Given the description of an element on the screen output the (x, y) to click on. 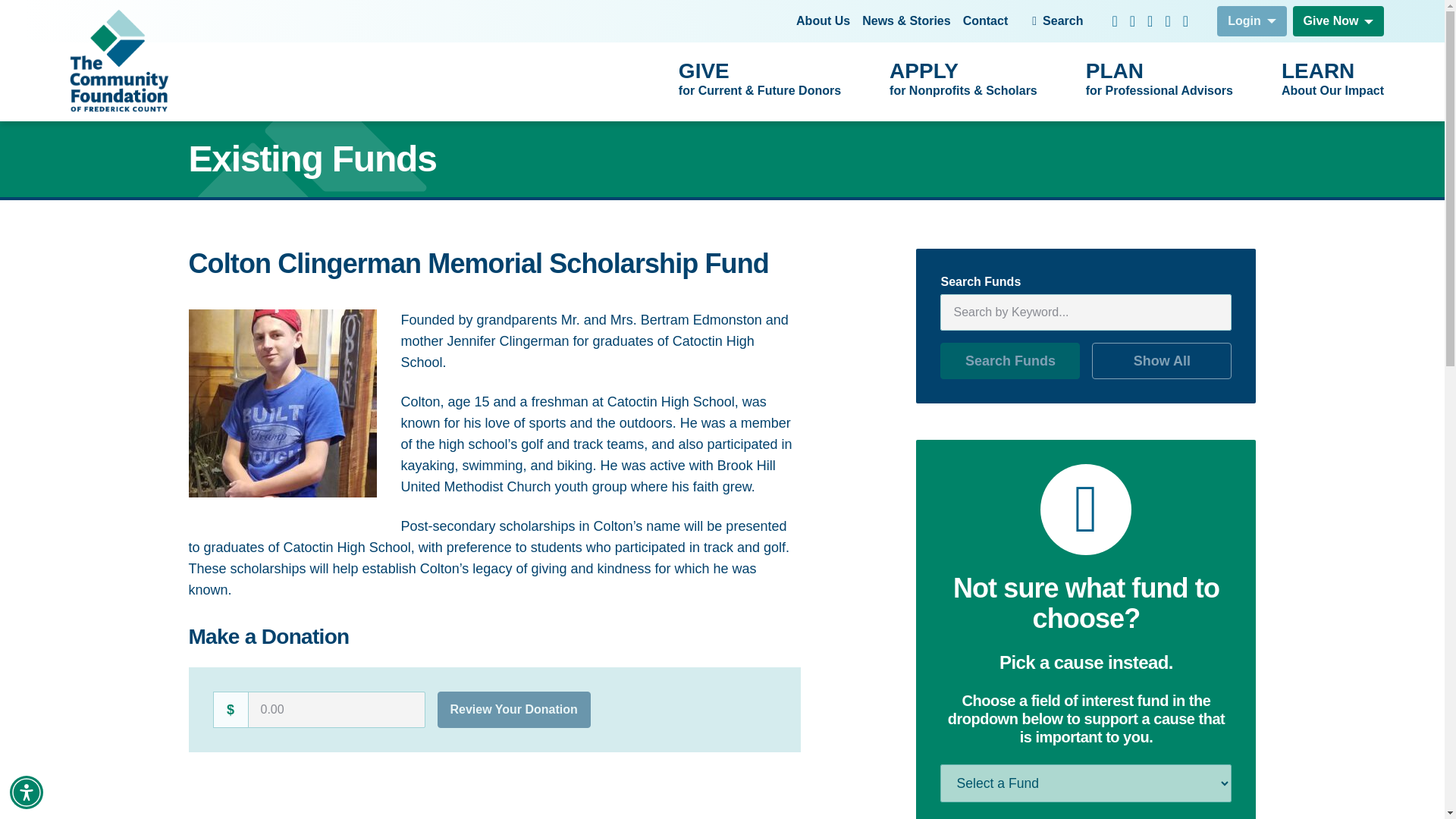
About Us (823, 21)
Search (1332, 79)
Accessibility Menu (1057, 20)
Contact (26, 792)
